Given the description of an element on the screen output the (x, y) to click on. 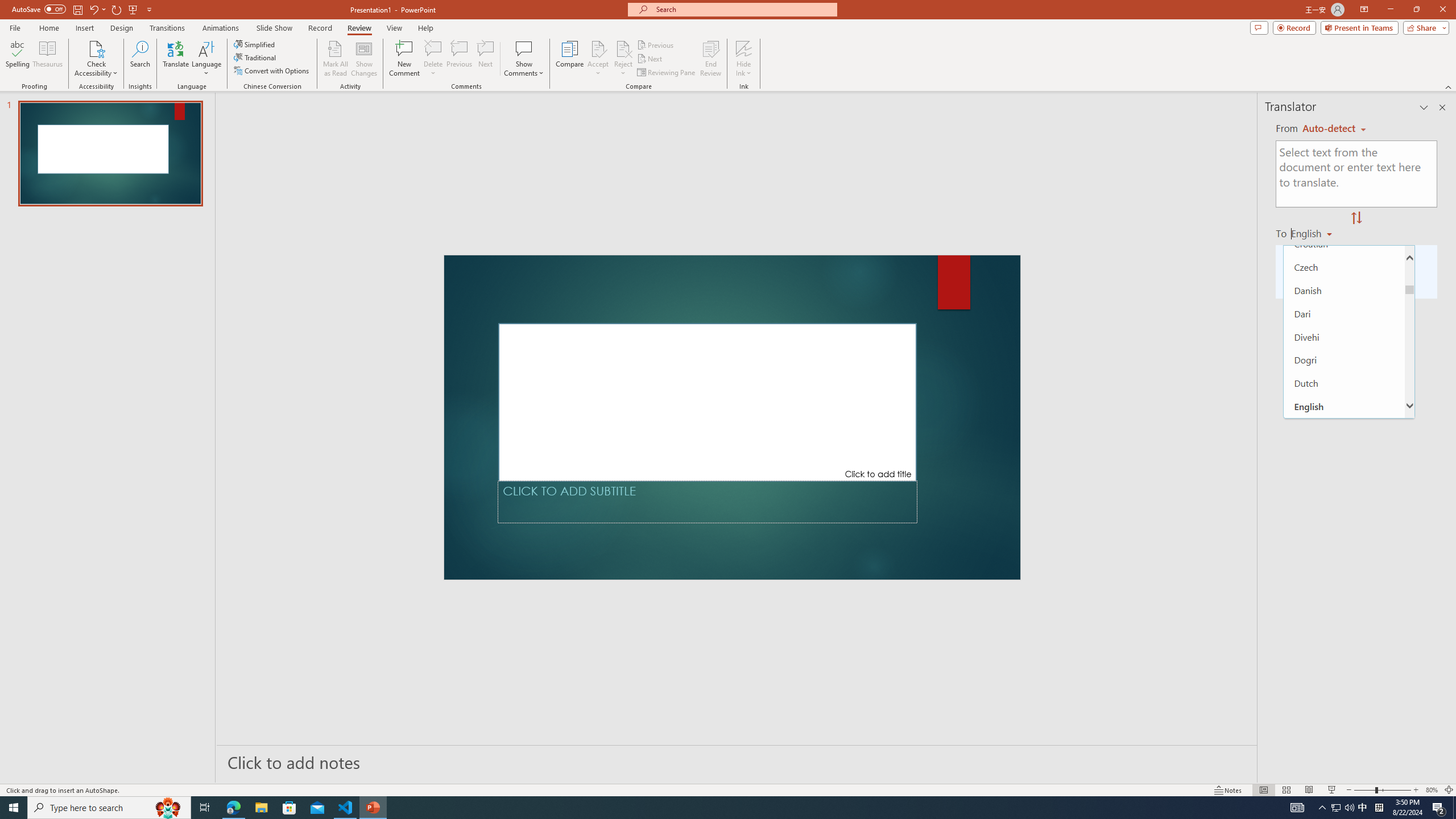
Check Accessibility (95, 48)
Zoom 80% (1431, 790)
Estonian (1344, 429)
Hausa (1344, 756)
Czech (1344, 266)
Dutch (1344, 382)
End Review (710, 58)
Croatian (1344, 243)
Next (649, 58)
English (1344, 405)
